Given the description of an element on the screen output the (x, y) to click on. 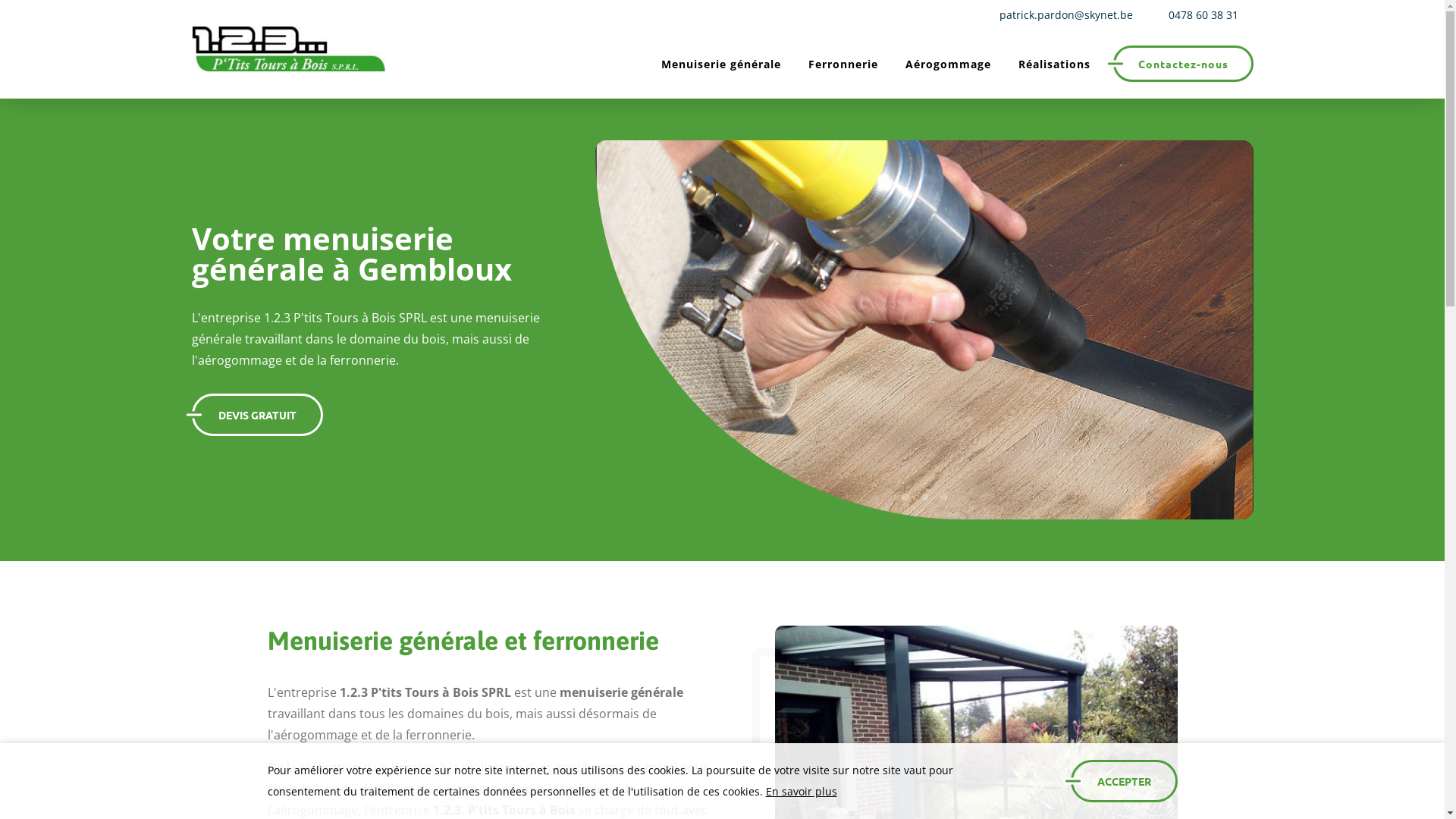
En savoir plus Element type: text (801, 791)
0478 60 38 31 Element type: text (1200, 15)
Contactez-nous Element type: text (1183, 63)
DEVIS GRATUIT Element type: text (256, 414)
patrick.pardon@skynet.be Element type: text (1062, 15)
Ferronnerie Element type: text (843, 64)
ACCEPTER Element type: text (1123, 780)
